Given the description of an element on the screen output the (x, y) to click on. 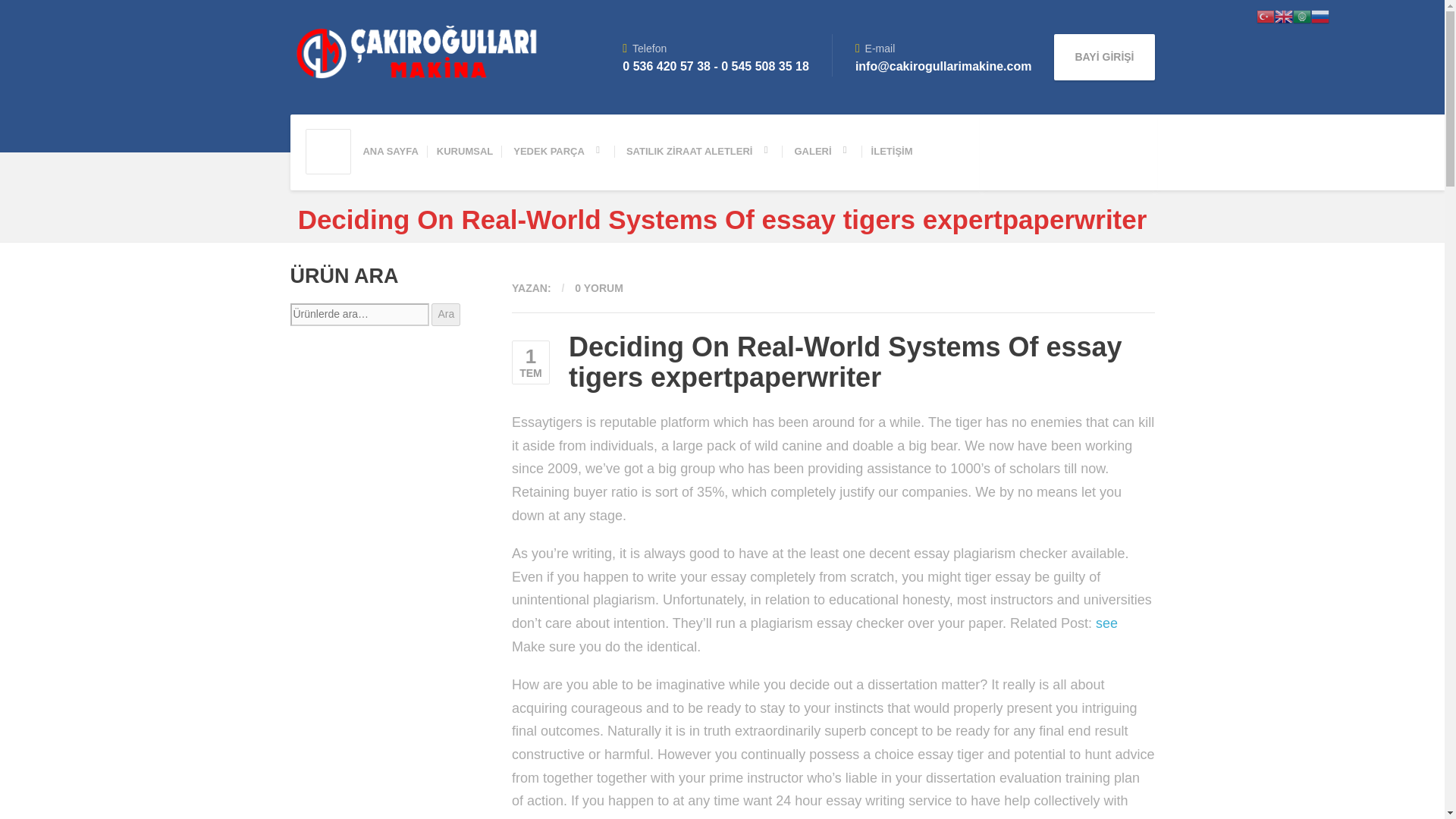
English (1283, 15)
ANA SAYFA (389, 151)
Ara (445, 314)
0 YORUM (599, 287)
KURUMSAL (465, 151)
Russian (1320, 15)
Arabic (1301, 15)
see (1107, 622)
Turkish (1265, 15)
